Given the description of an element on the screen output the (x, y) to click on. 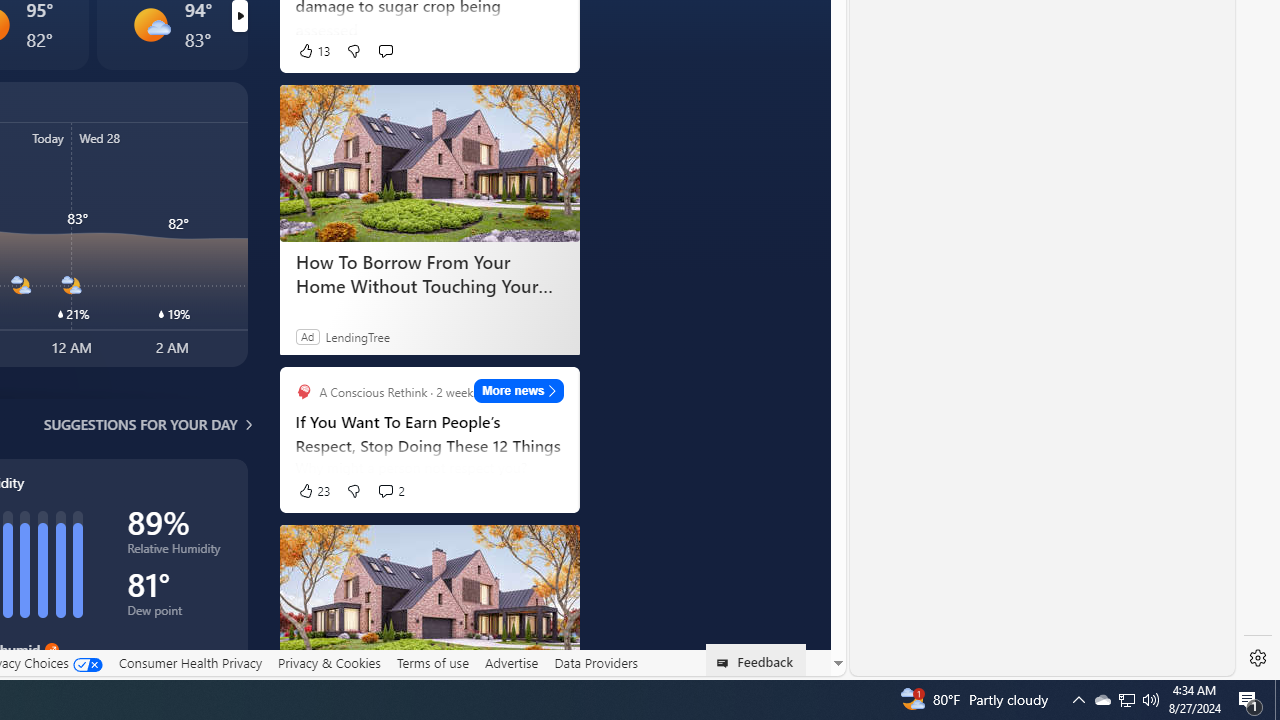
More news (518, 390)
Switch right (239, 15)
Privacy & Cookies (329, 663)
How To Borrow From Your Home Without Touching Your Mortgage (429, 602)
Advertise (510, 663)
Consumer Health Privacy (189, 663)
LendingTree (357, 336)
Advertise (510, 662)
Consumer Health Privacy (189, 662)
Privacy & Cookies (329, 662)
Relative Humidity (176, 552)
Data Providers (595, 663)
Class: feedback_link_icon-DS-EntryPoint1-1 (726, 663)
